Given the description of an element on the screen output the (x, y) to click on. 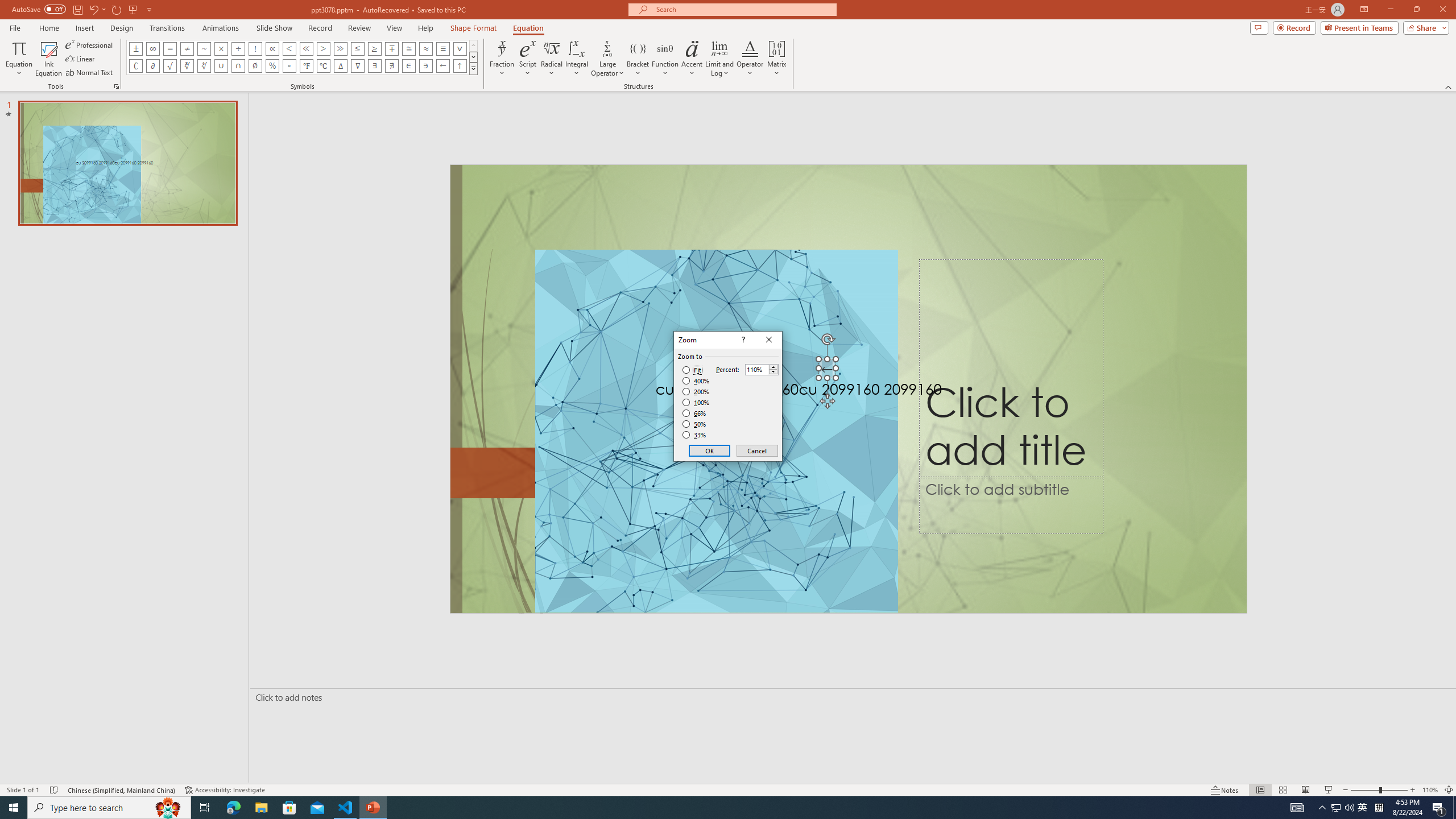
Zoom 110% (1430, 790)
Equation Symbol Radical Sign (170, 65)
Equation Symbols (472, 68)
OK (709, 450)
Linear (81, 58)
Equation Symbol Partial Differential (152, 65)
Professional (90, 44)
Cancel (756, 450)
100% (696, 402)
Equation Symbol Up Arrow (459, 65)
